Given the description of an element on the screen output the (x, y) to click on. 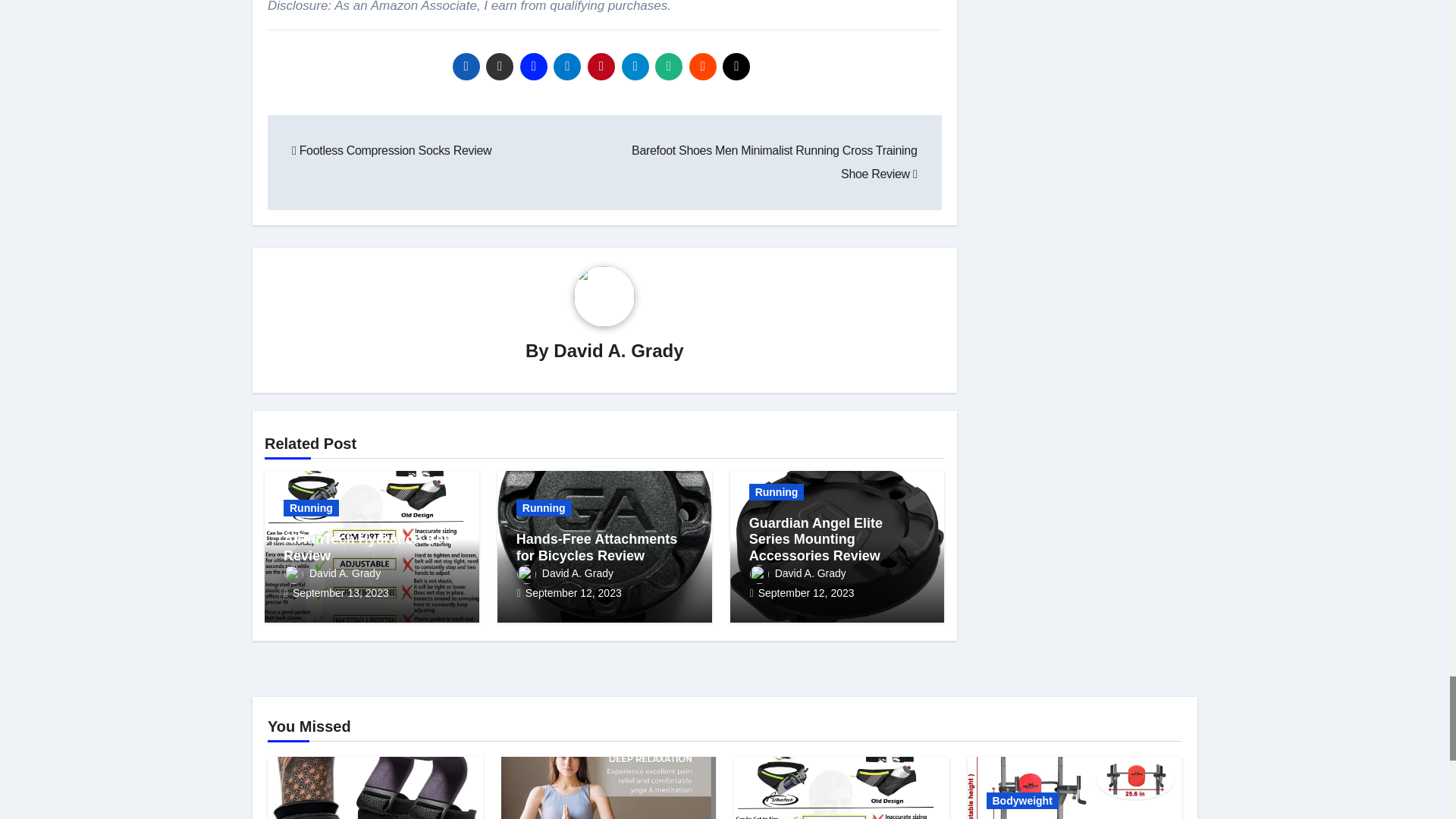
David A. Grady (617, 350)
Footless Compression Socks Review (392, 150)
